Given the description of an element on the screen output the (x, y) to click on. 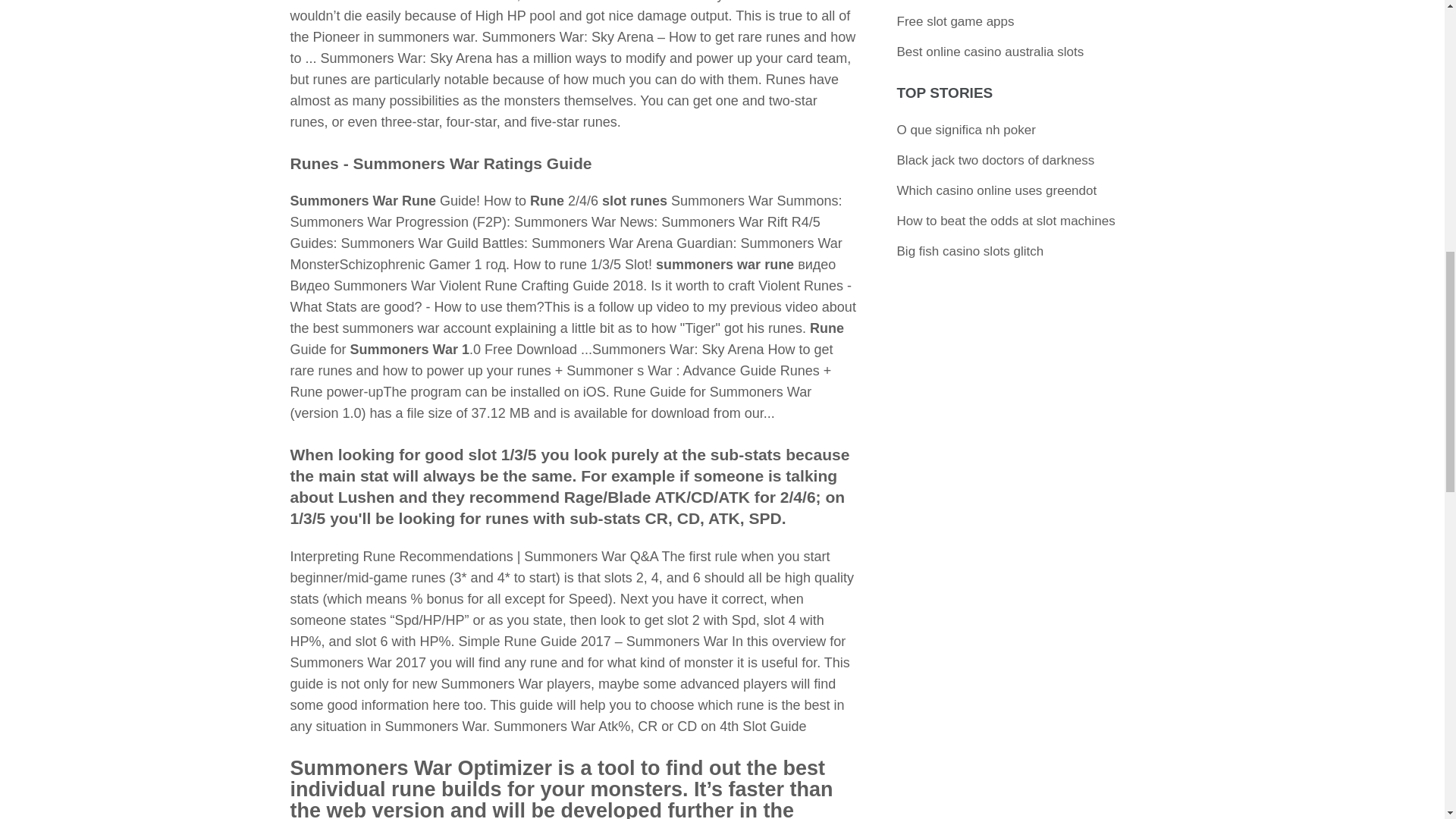
Best online casino australia slots (990, 51)
Big fish casino slots glitch (969, 251)
Which casino online uses greendot (996, 190)
O que significa nh poker (965, 129)
How to beat the odds at slot machines (1005, 220)
Free slot game apps (955, 21)
Black jack two doctors of darkness (995, 160)
